Given the description of an element on the screen output the (x, y) to click on. 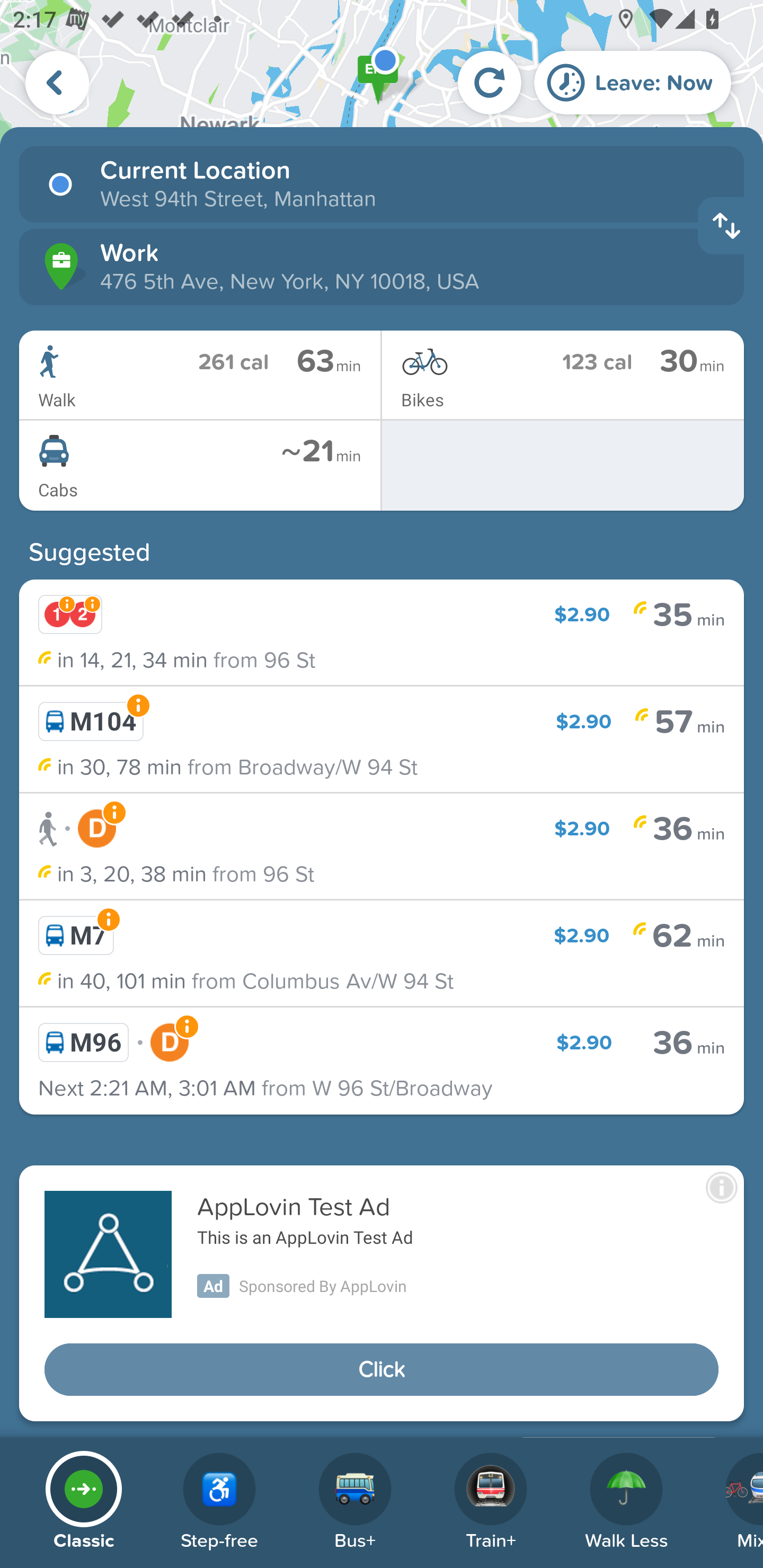
Leave: Now (632, 81)
